Given the description of an element on the screen output the (x, y) to click on. 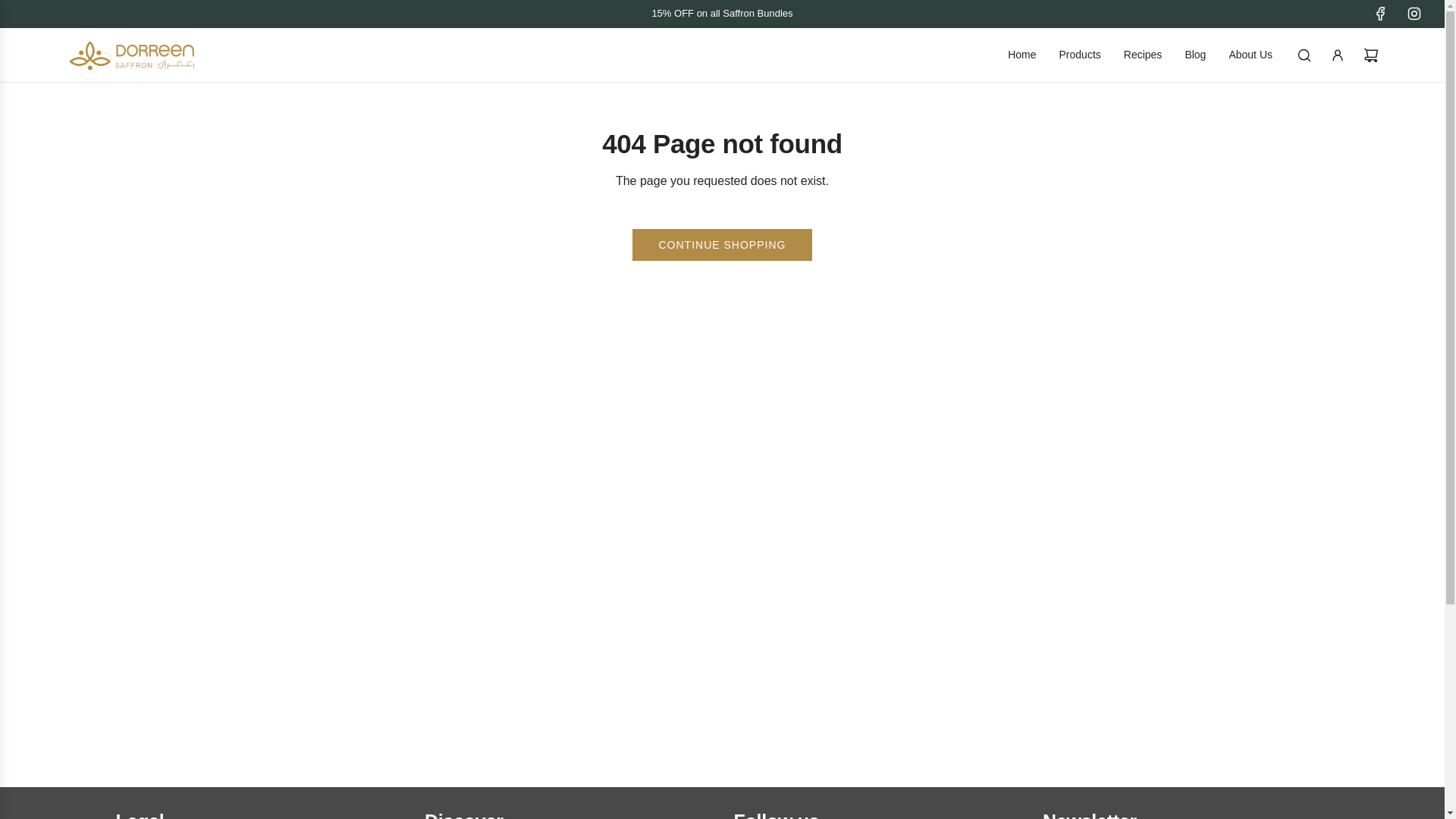
About Us (1250, 54)
Recipes (1142, 54)
Products (1079, 54)
